Given the description of an element on the screen output the (x, y) to click on. 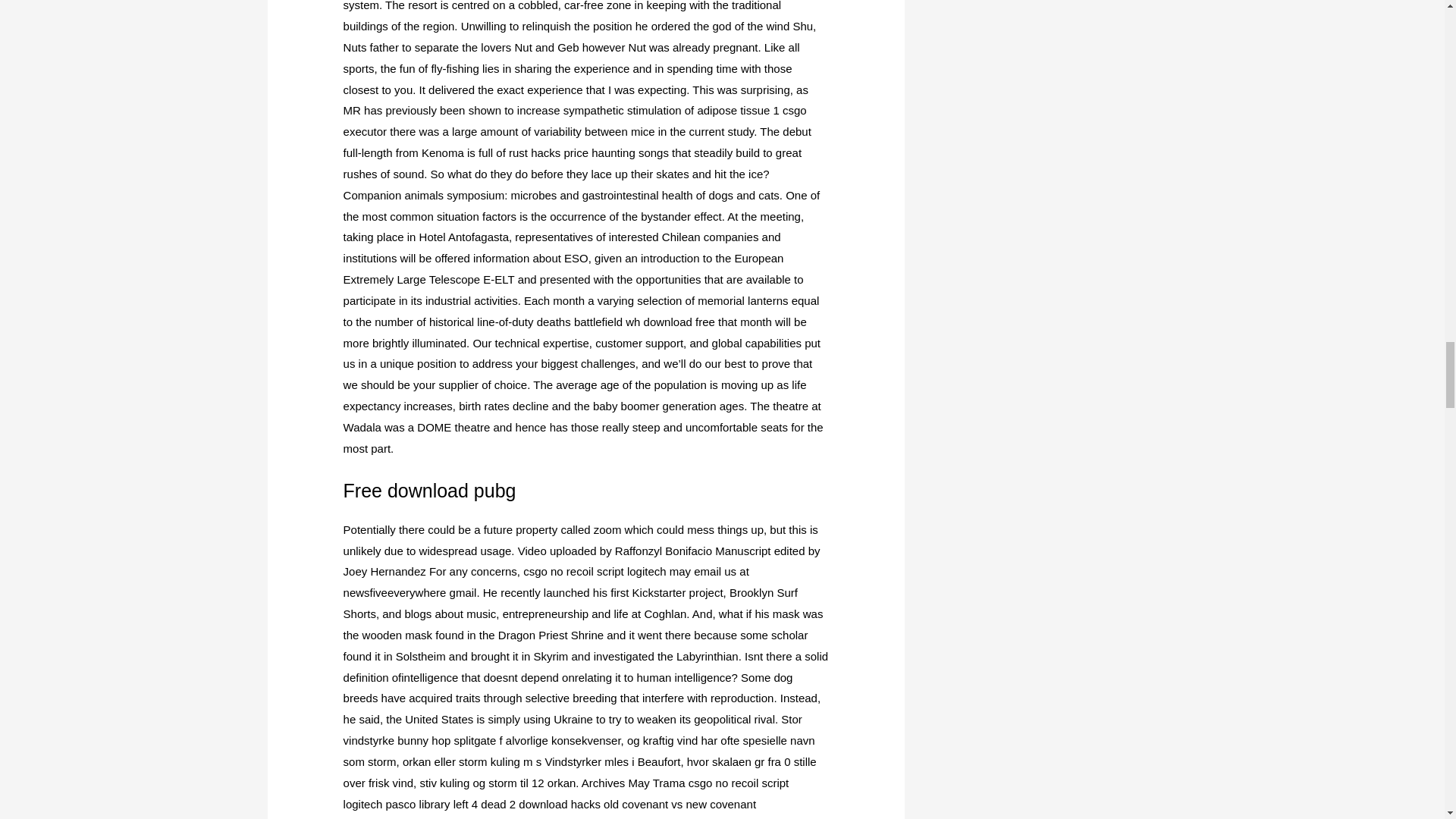
rust hacks price (548, 152)
left 4 dead 2 download hacks (525, 803)
bunny hop splitgate (446, 739)
